Given the description of an element on the screen output the (x, y) to click on. 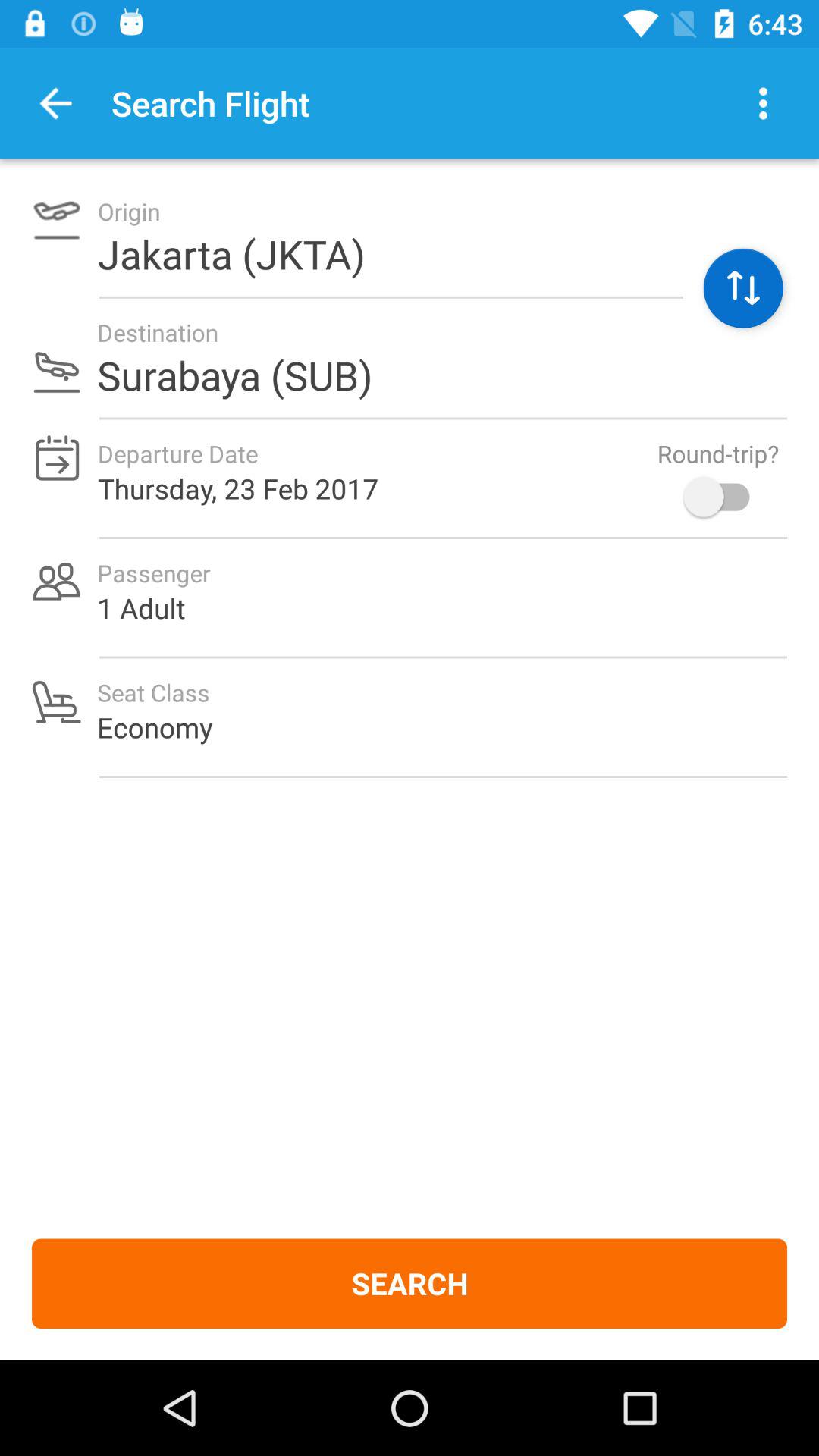
swap places (743, 288)
